Given the description of an element on the screen output the (x, y) to click on. 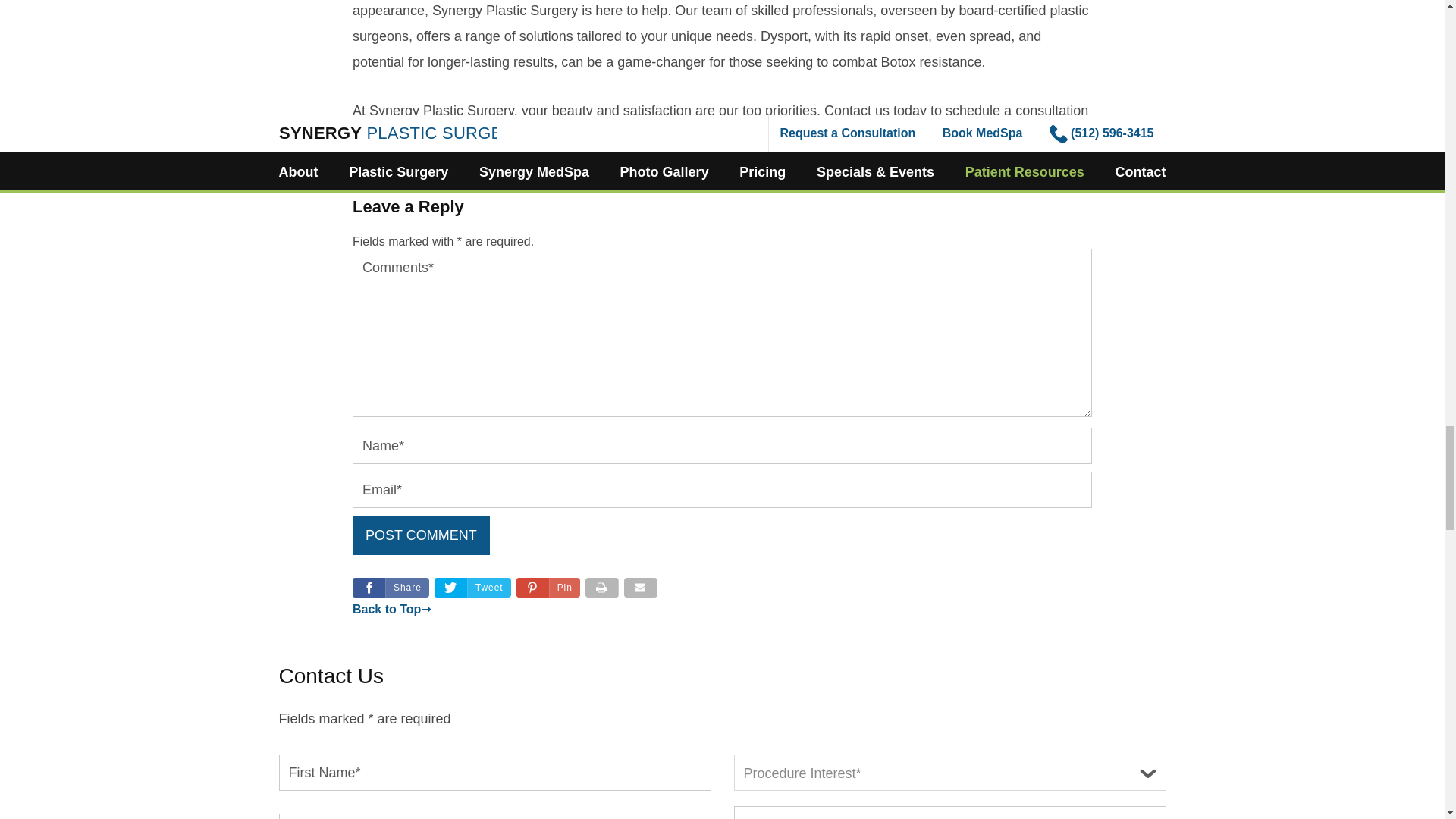
Post Comment (420, 534)
